Given the description of an element on the screen output the (x, y) to click on. 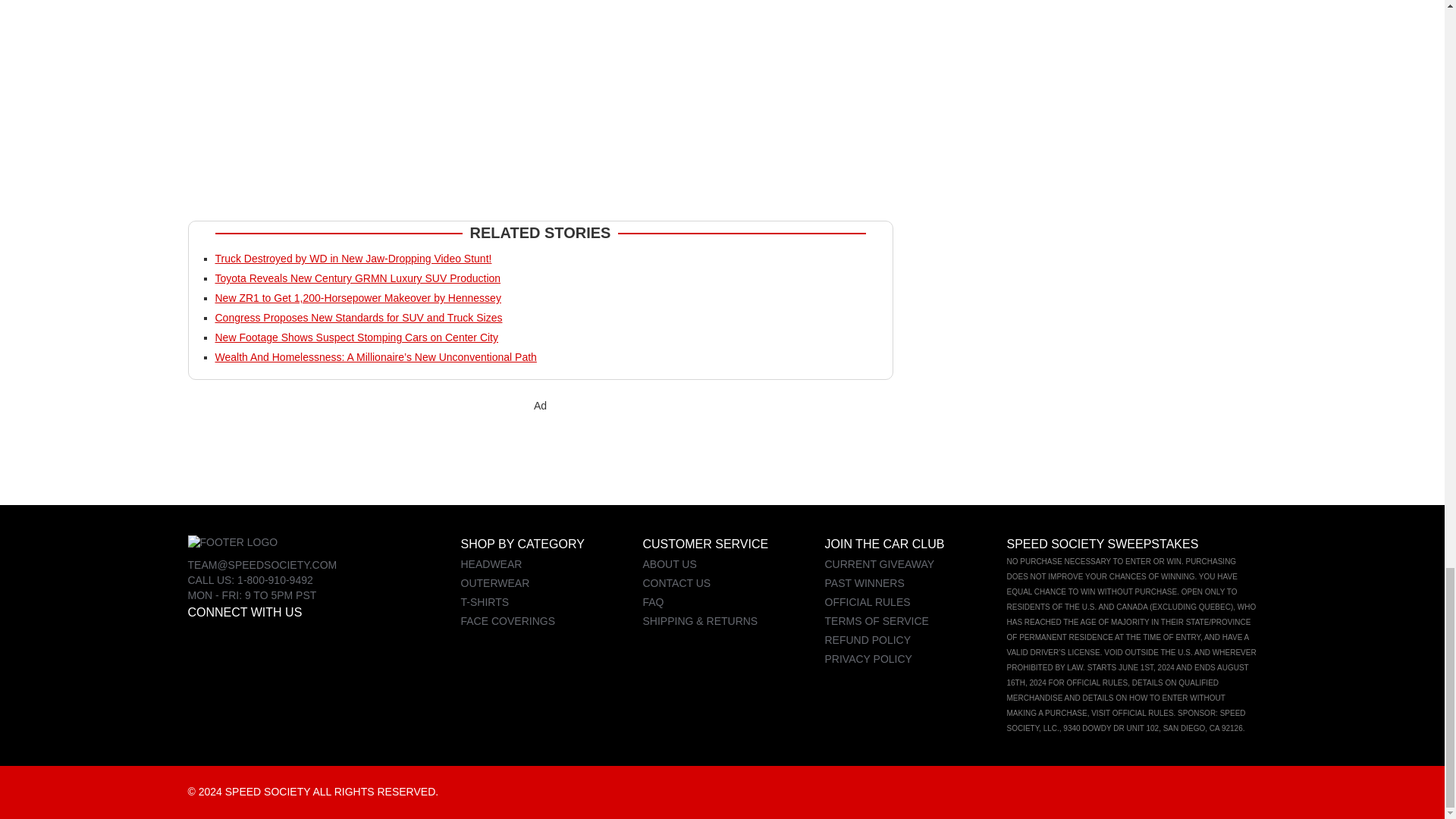
Toyota Reveals New Century GRMN Luxury SUV Production (357, 277)
Truck Destroyed by WD in New Jaw-Dropping Video Stunt! (353, 258)
New ZR1 to Get 1,200-Horsepower Makeover by Hennessey (357, 297)
footer logo (232, 542)
Congress Proposes New Standards for SUV and Truck Sizes (358, 317)
